Given the description of an element on the screen output the (x, y) to click on. 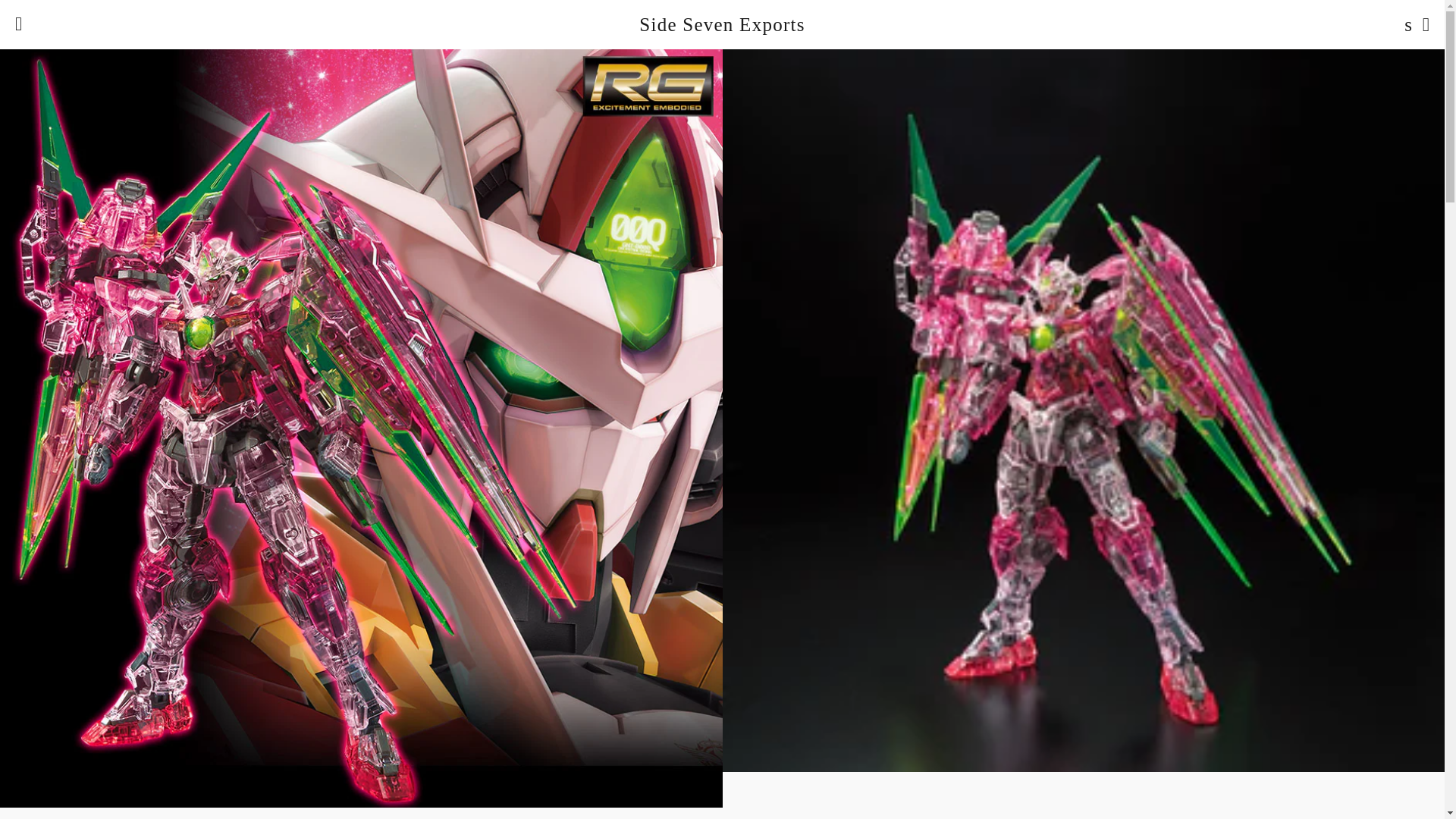
Menu (18, 24)
Search (1404, 23)
Side Seven Exports (722, 24)
